Given the description of an element on the screen output the (x, y) to click on. 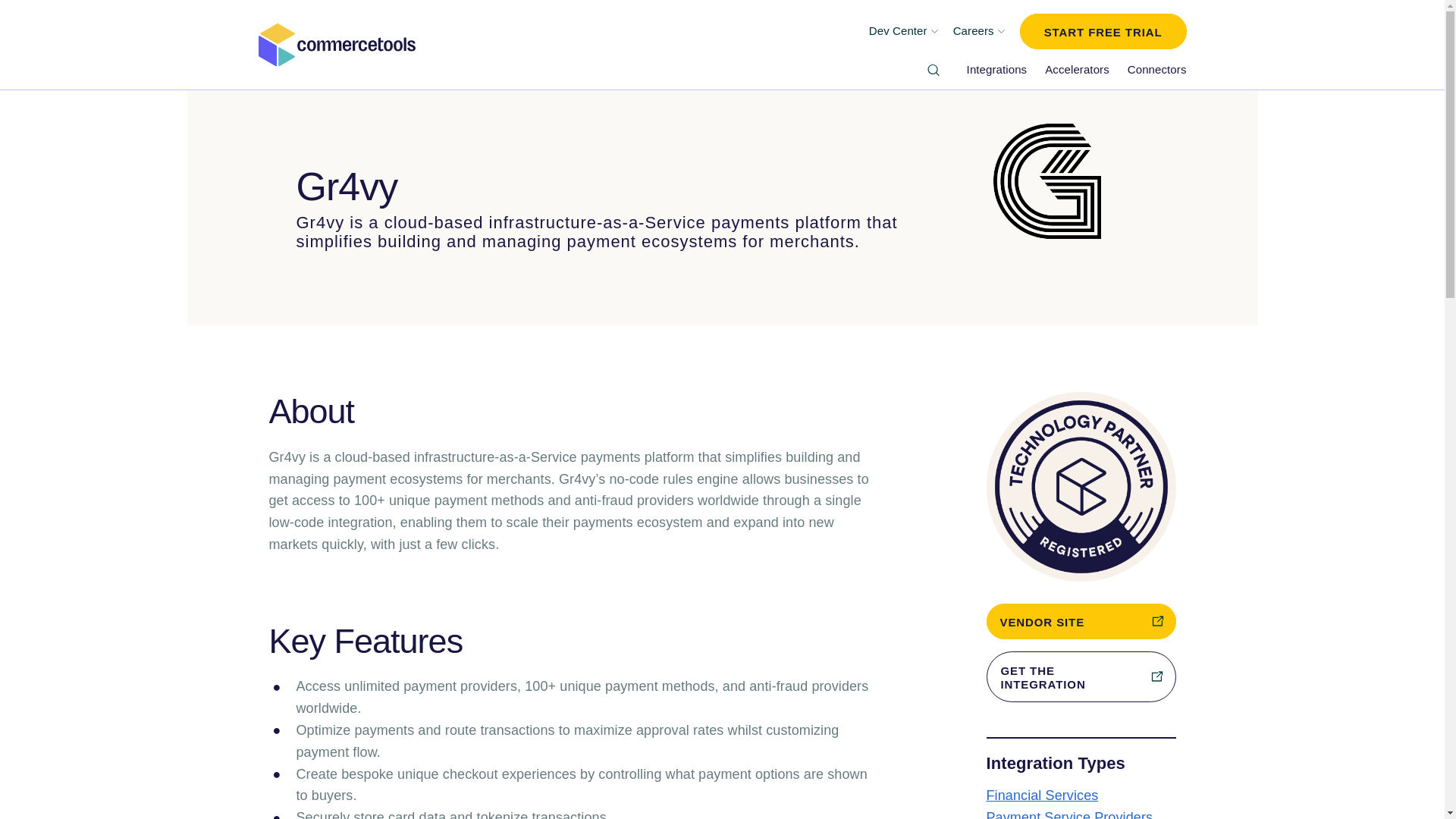
GET THE INTEGRATION (1079, 676)
START FREE TRIAL (1103, 31)
Connectors (1156, 70)
Vendor Site (1079, 621)
Commercetools (335, 44)
Financial Services (1041, 795)
Get the Integration (1079, 676)
Accelerators (1077, 70)
VENDOR SITE (1079, 621)
Payment Service Providers (1069, 814)
